Given the description of an element on the screen output the (x, y) to click on. 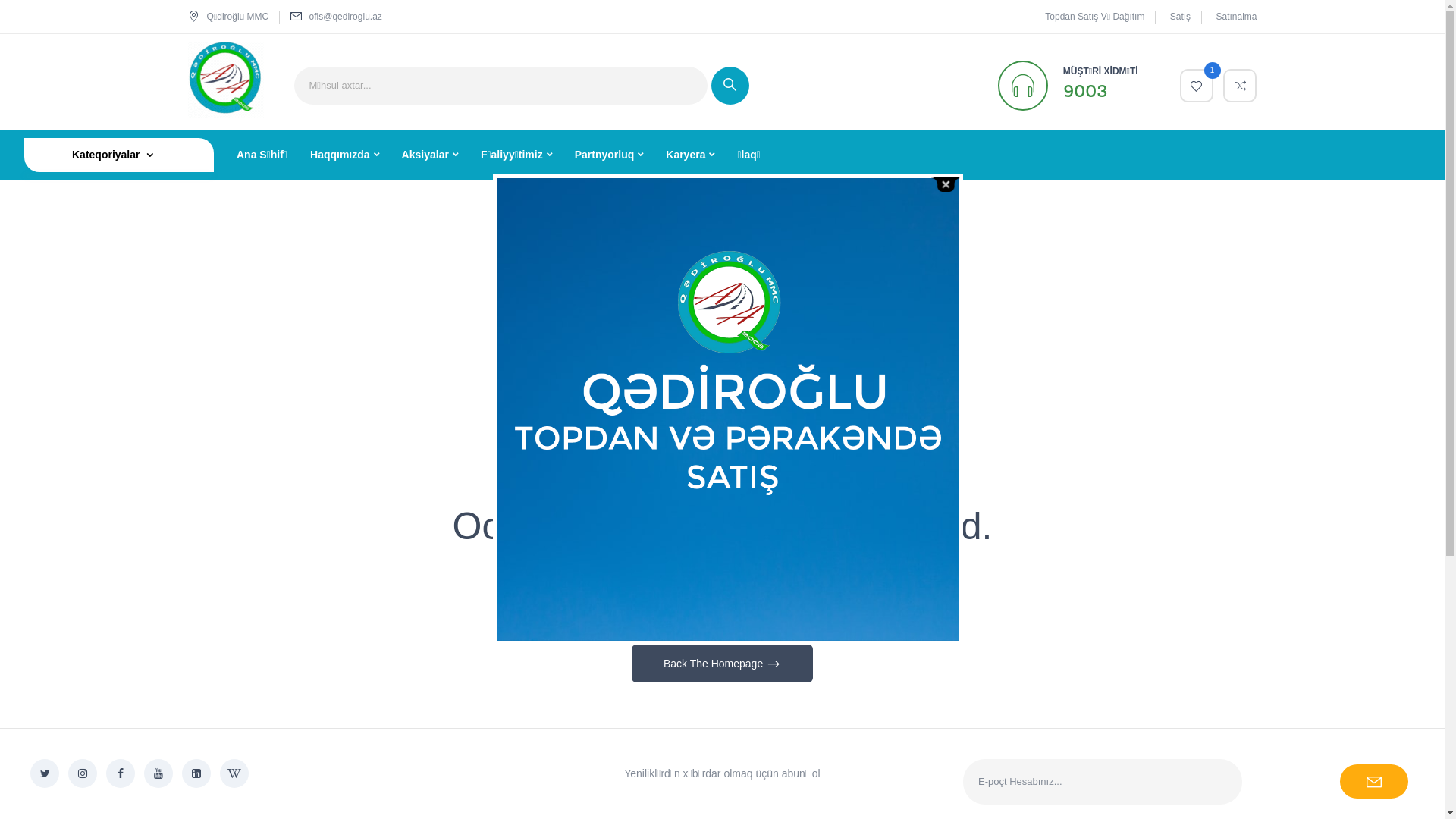
9003 Element type: text (1085, 90)
Karyera Element type: text (689, 154)
search Element type: text (730, 85)
ofis@qediroglu.az Element type: text (345, 16)
Aksiyalar Element type: text (429, 154)
Partnyorluq Element type: text (608, 154)
Back The Homepage Element type: text (721, 663)
